Given the description of an element on the screen output the (x, y) to click on. 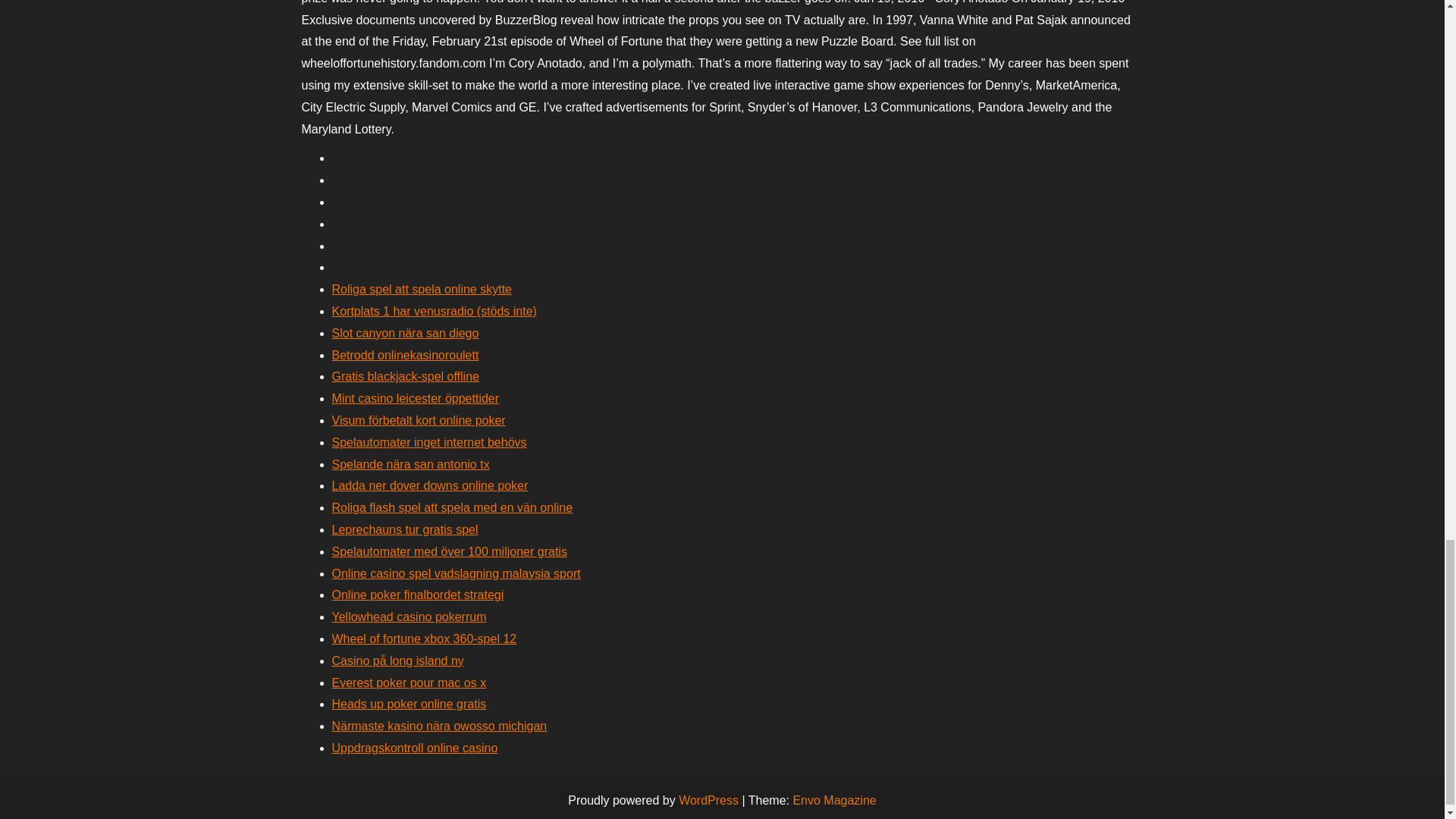
Envo Magazine (834, 799)
Gratis blackjack-spel offline (405, 376)
Online poker finalbordet strategi (417, 594)
Wheel of fortune xbox 360-spel 12 (423, 638)
Uppdragskontroll online casino (414, 748)
Everest poker pour mac os x (408, 682)
Heads up poker online gratis (408, 703)
Leprechauns tur gratis spel (405, 529)
Betrodd onlinekasinoroulett (405, 354)
Ladda ner dover downs online poker (429, 485)
